Given the description of an element on the screen output the (x, y) to click on. 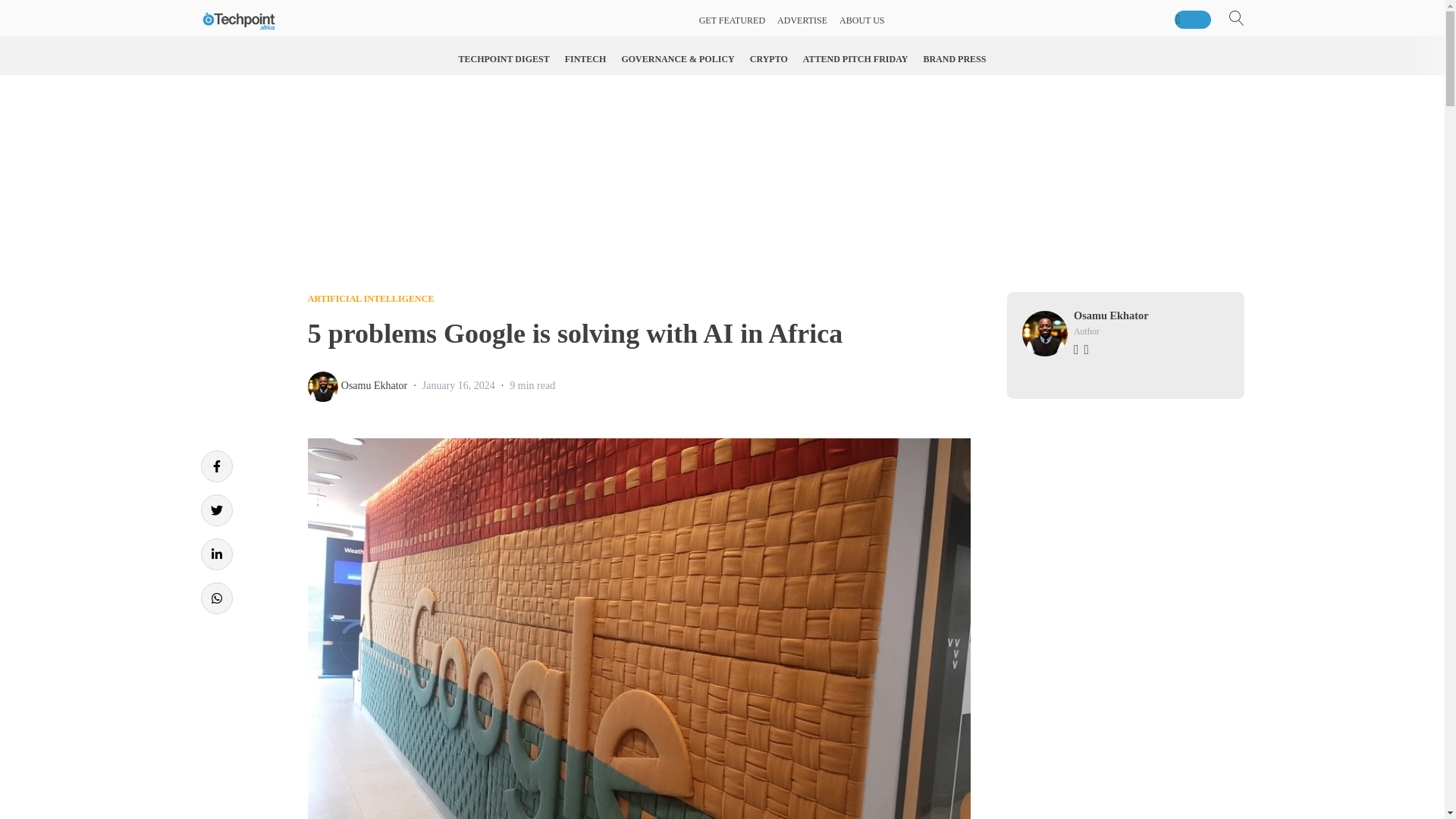
ATTEND PITCH FRIDAY (854, 59)
Osamu Ekhator (373, 385)
Share on Twitter (215, 510)
Posts by Osamu Ekhator (373, 385)
ADVERTISE (802, 20)
GET FEATURED (731, 20)
Share on Whatsapp (215, 598)
CRYPTO (768, 59)
Share on LinkedIn (215, 554)
TECHPOINT DIGEST (504, 59)
Share on Facebook (215, 466)
ABOUT US (861, 20)
FINTECH (585, 59)
BRAND PRESS (953, 59)
ARTIFICIAL INTELLIGENCE (370, 298)
